Given the description of an element on the screen output the (x, y) to click on. 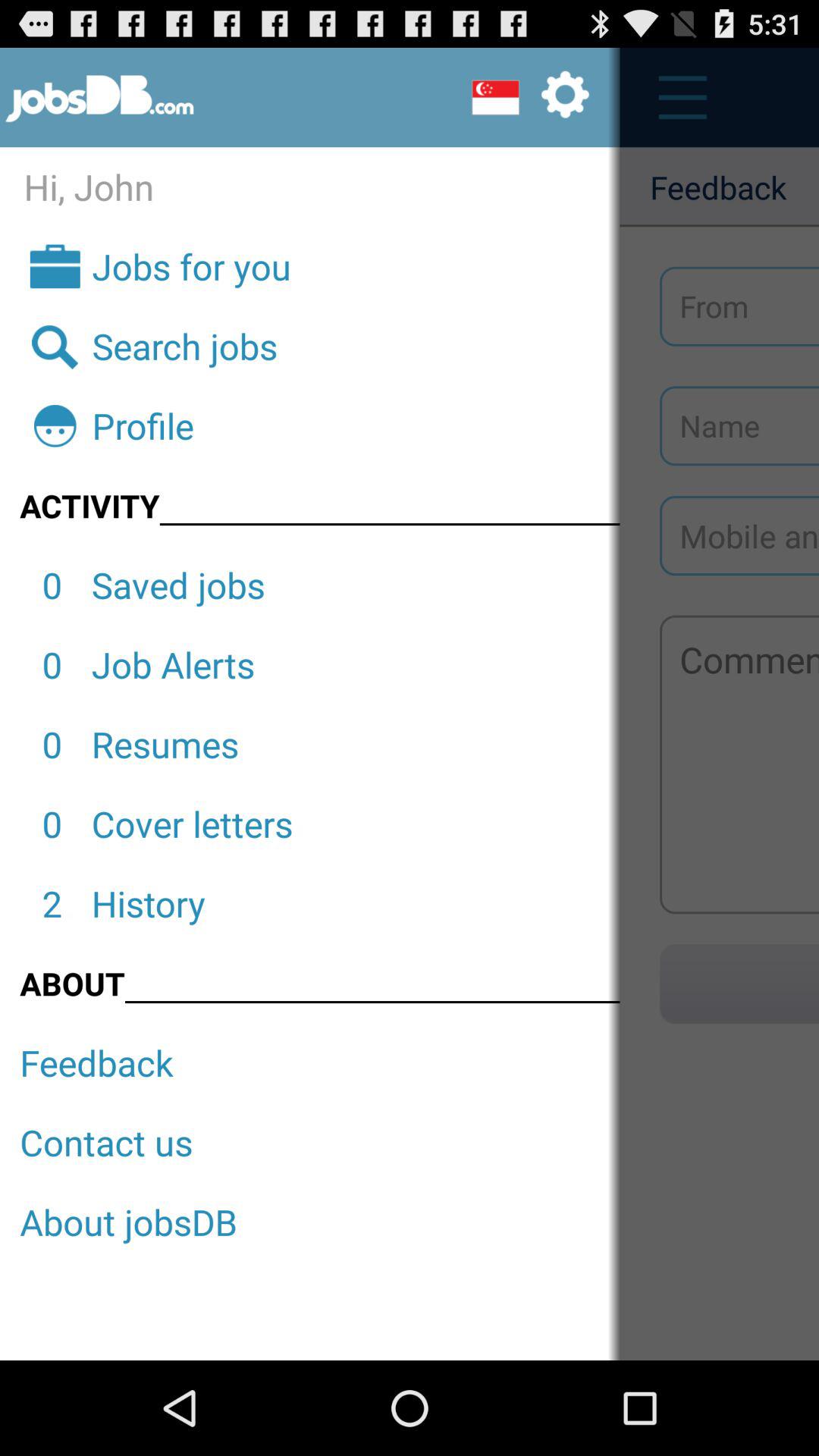
menu (674, 97)
